Given the description of an element on the screen output the (x, y) to click on. 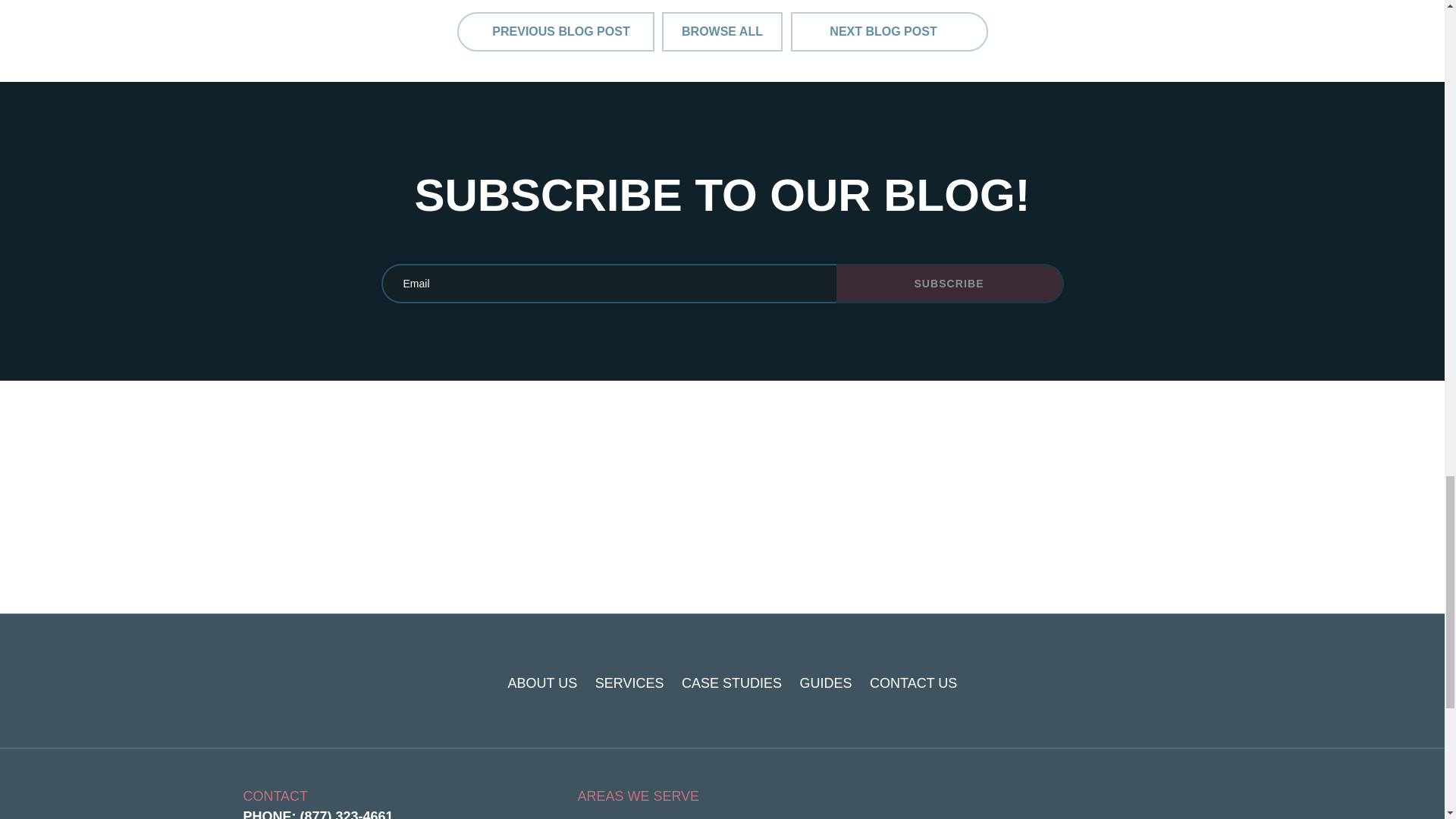
logo2 (299, 682)
40d6a4baa17461064e2ad84867d35804 (1153, 683)
SUBSCRIBE (948, 283)
